Given the description of an element on the screen output the (x, y) to click on. 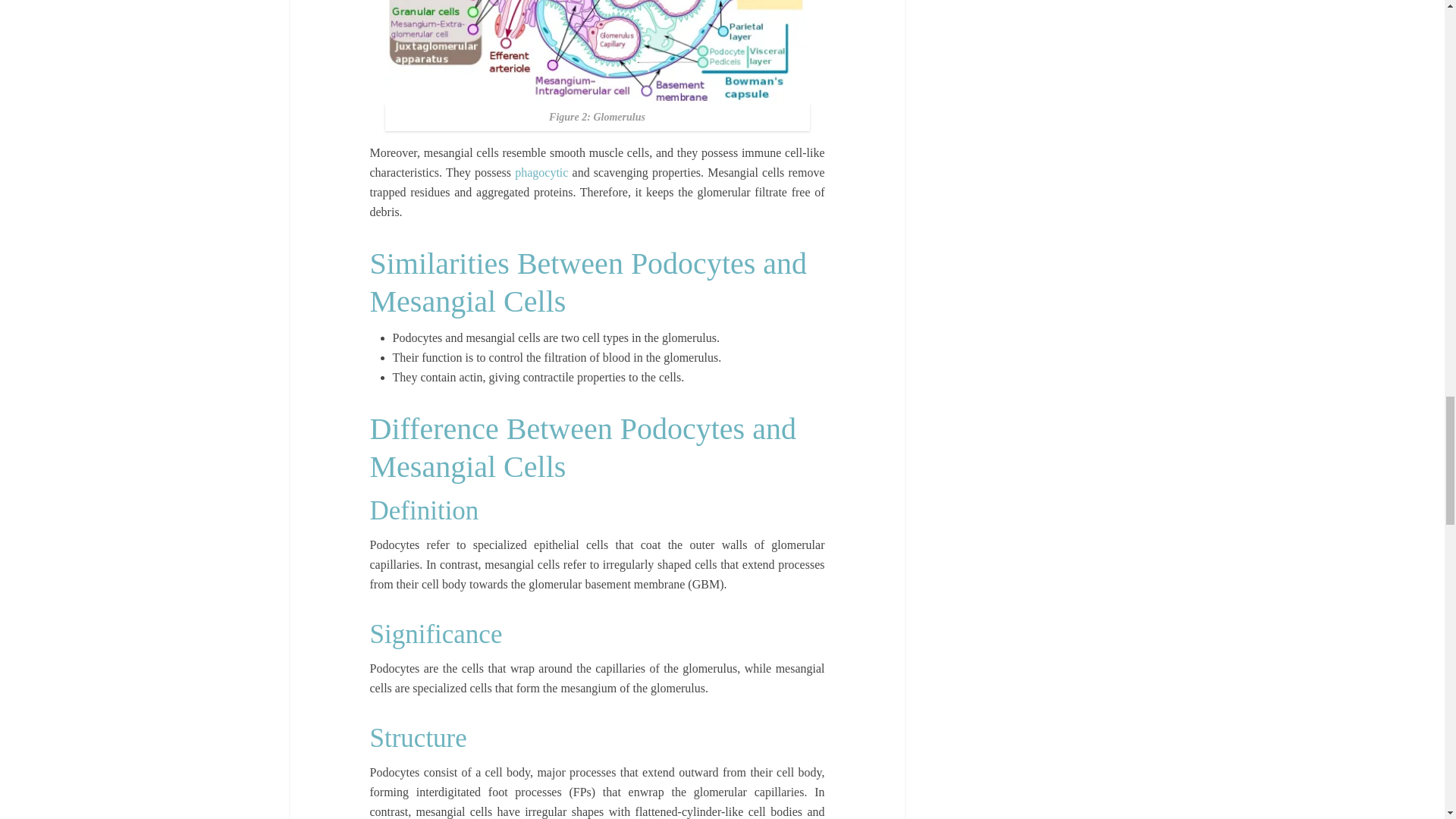
phagocytic (541, 172)
